Given the description of an element on the screen output the (x, y) to click on. 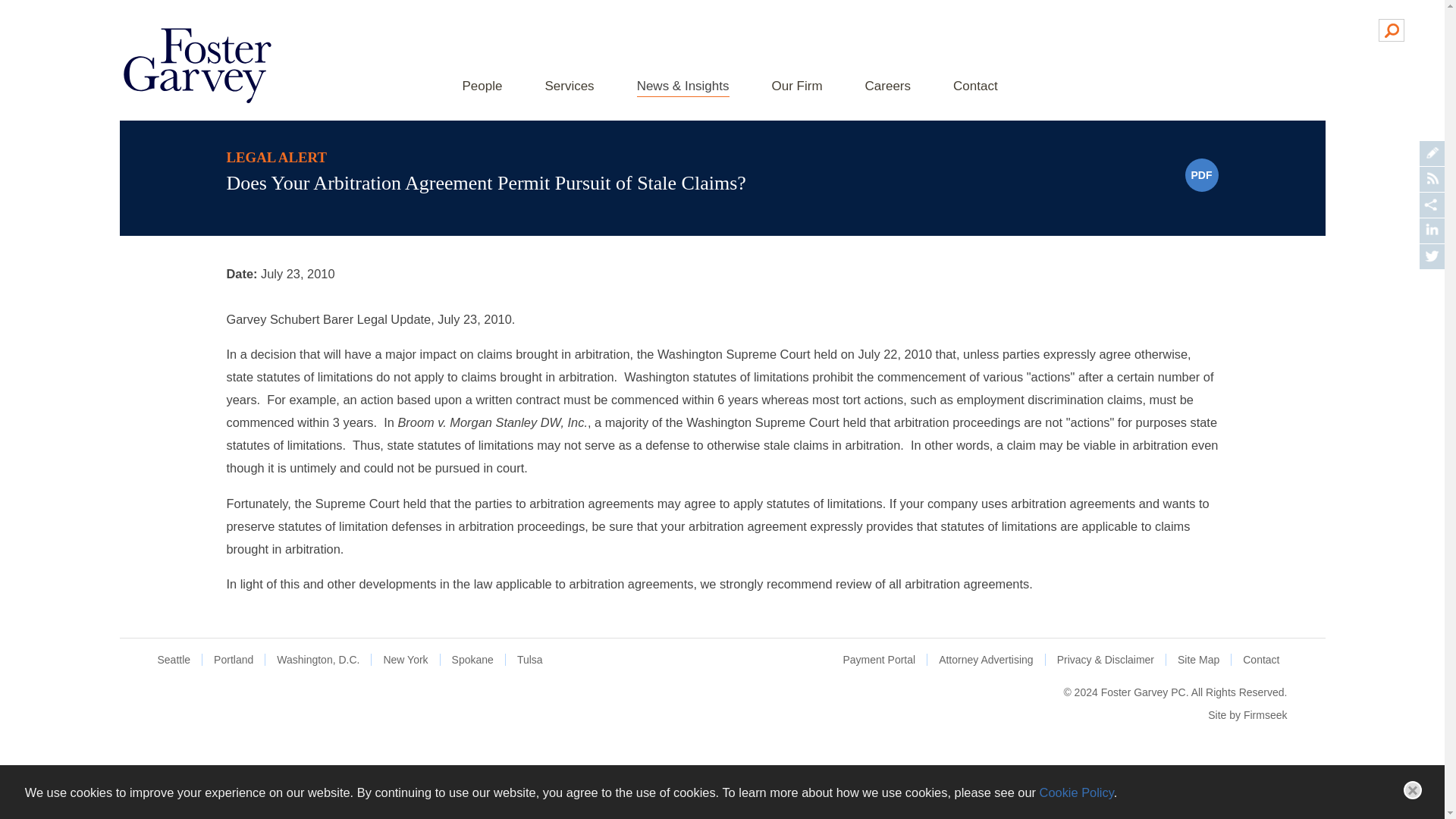
Services (569, 87)
People (482, 87)
PDF (1201, 174)
Careers (887, 87)
Our Firm (796, 87)
